Given the description of an element on the screen output the (x, y) to click on. 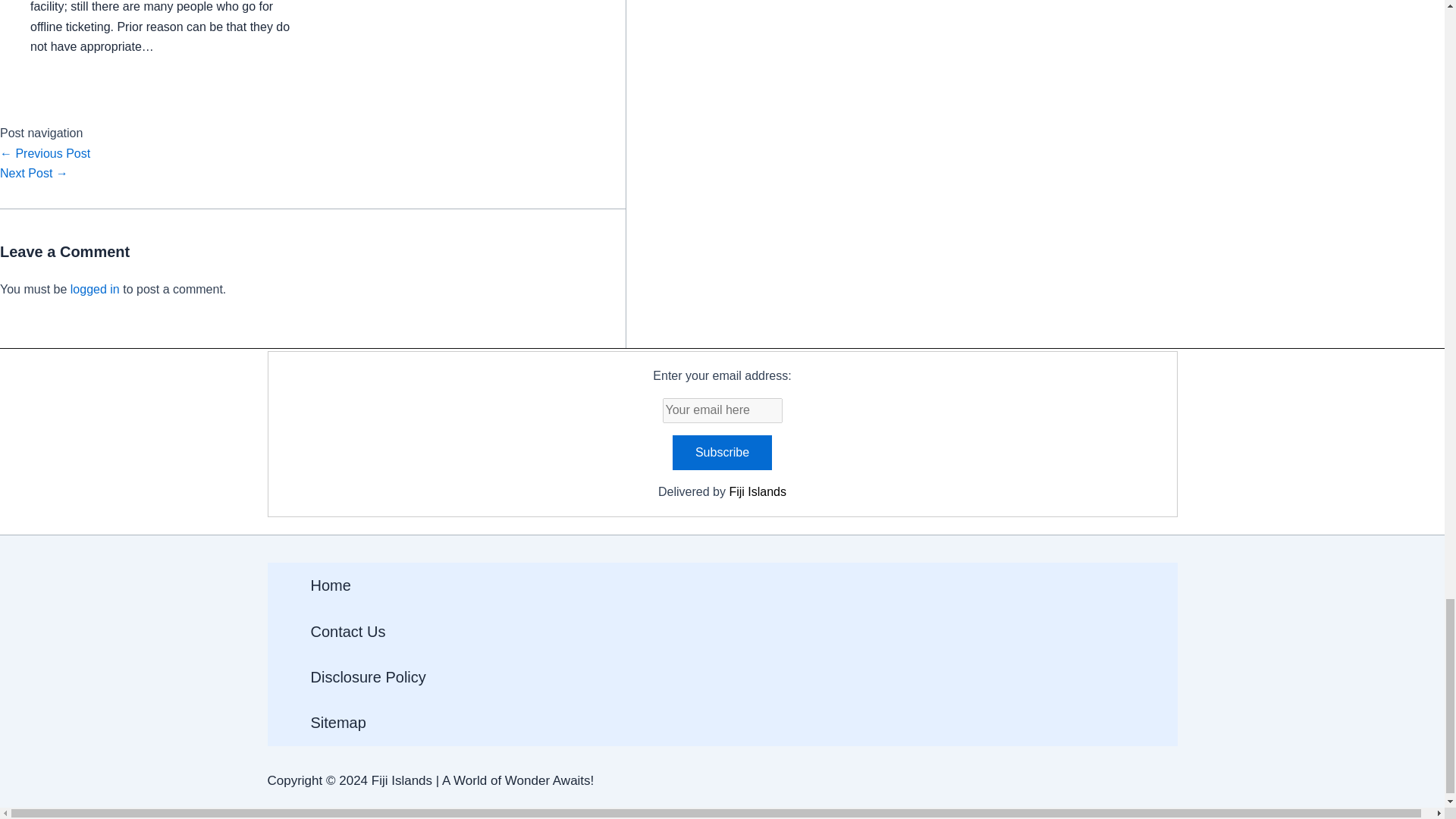
Mistakes Of Not Being Healthy While Travelling (34, 173)
Subscribe (721, 452)
